Given the description of an element on the screen output the (x, y) to click on. 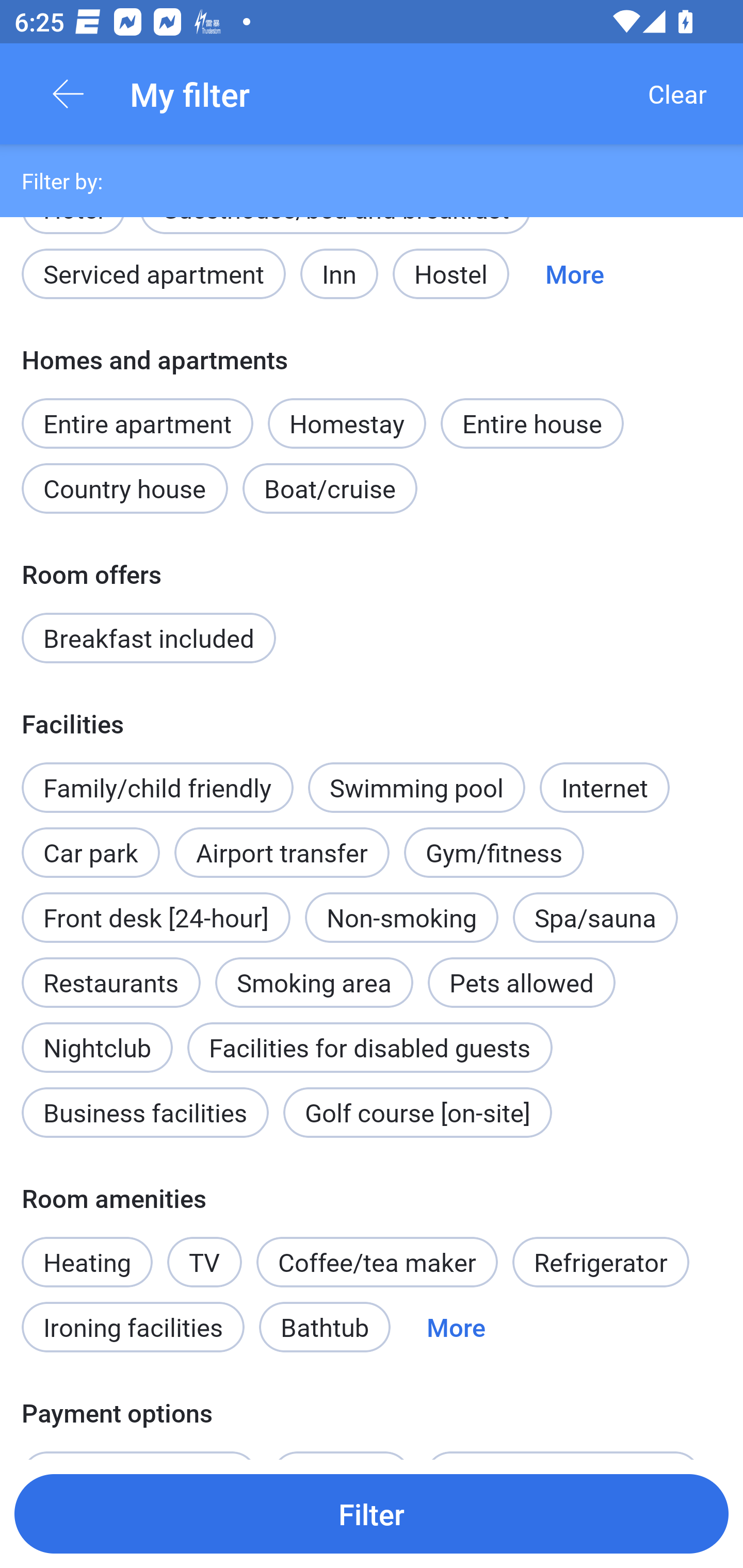
Clear (676, 93)
Serviced apartment (153, 273)
Inn (339, 273)
Hostel (450, 273)
More (574, 273)
Entire apartment (137, 423)
Homestay (346, 423)
Entire house (532, 423)
Country house (124, 488)
Boat/cruise (329, 488)
Breakfast included (148, 638)
Family/child friendly (157, 787)
Swimming pool (416, 787)
Internet (604, 787)
Car park (90, 841)
Airport transfer (281, 852)
Gym/fitness (493, 852)
Front desk [24-hour] (155, 917)
Non-smoking (401, 917)
Spa/sauna (594, 917)
Restaurants (110, 982)
Smoking area (314, 971)
Pets allowed (521, 982)
Nightclub (97, 1036)
Facilities for disabled guests (369, 1047)
Business facilities (144, 1112)
Golf course [on-site] (417, 1112)
Heating (87, 1251)
TV (204, 1262)
Coffee/tea maker (376, 1262)
Refrigerator (600, 1262)
Ironing facilities (132, 1327)
Bathtub (324, 1327)
More (455, 1327)
Filter (371, 1513)
